Given the description of an element on the screen output the (x, y) to click on. 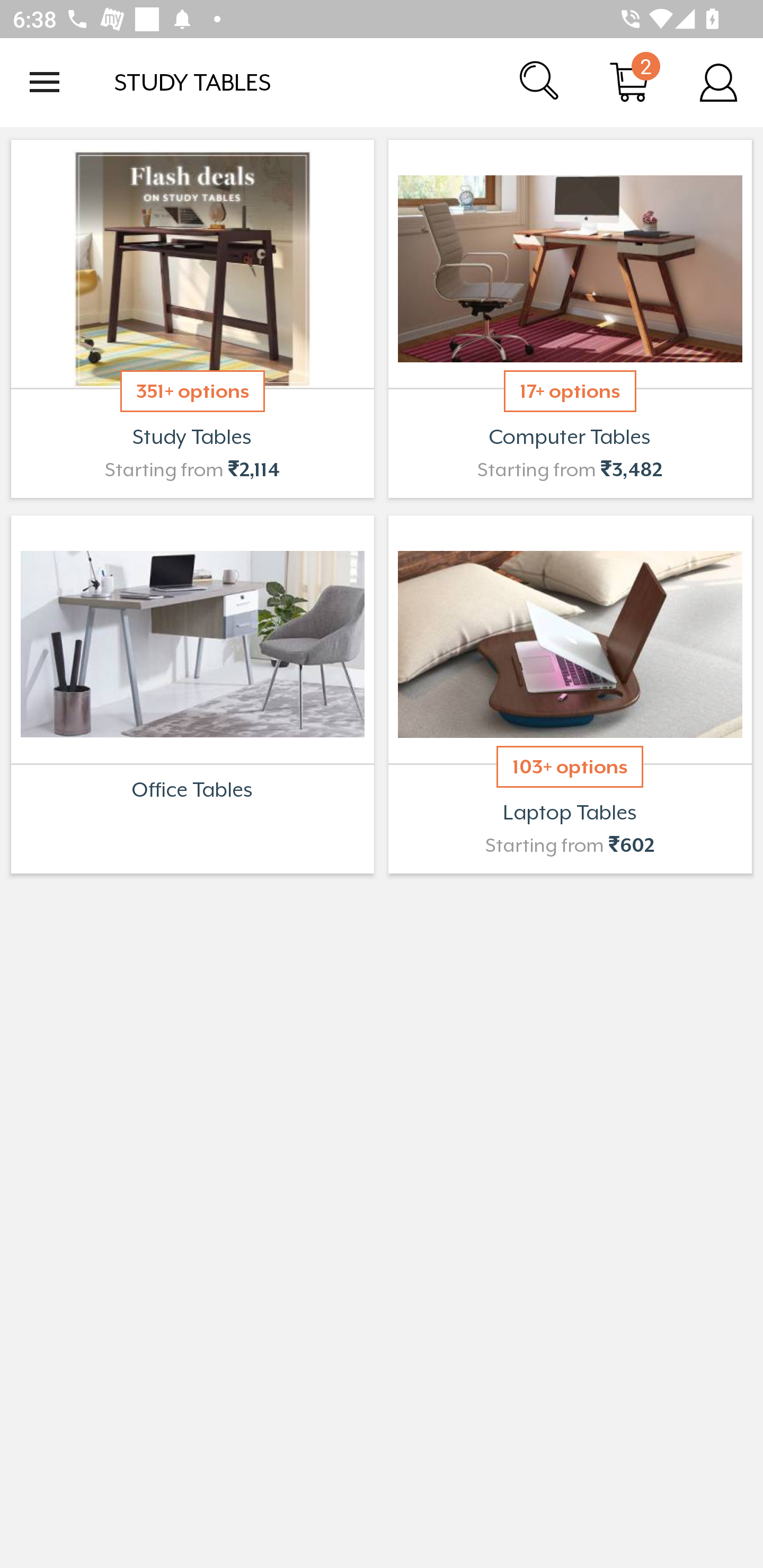
Open navigation drawer (44, 82)
Search (540, 81)
Cart (629, 81)
Account Details (718, 81)
465+ options Study Tables Starting from  ₹602 (191, 318)
1102+ options Study Chairs Starting from  ₹3,077 (570, 318)
458+ options Storage Starting from  ₹483 (191, 694)
29+ options Decor Starting from  ₹464 (570, 694)
